Given the description of an element on the screen output the (x, y) to click on. 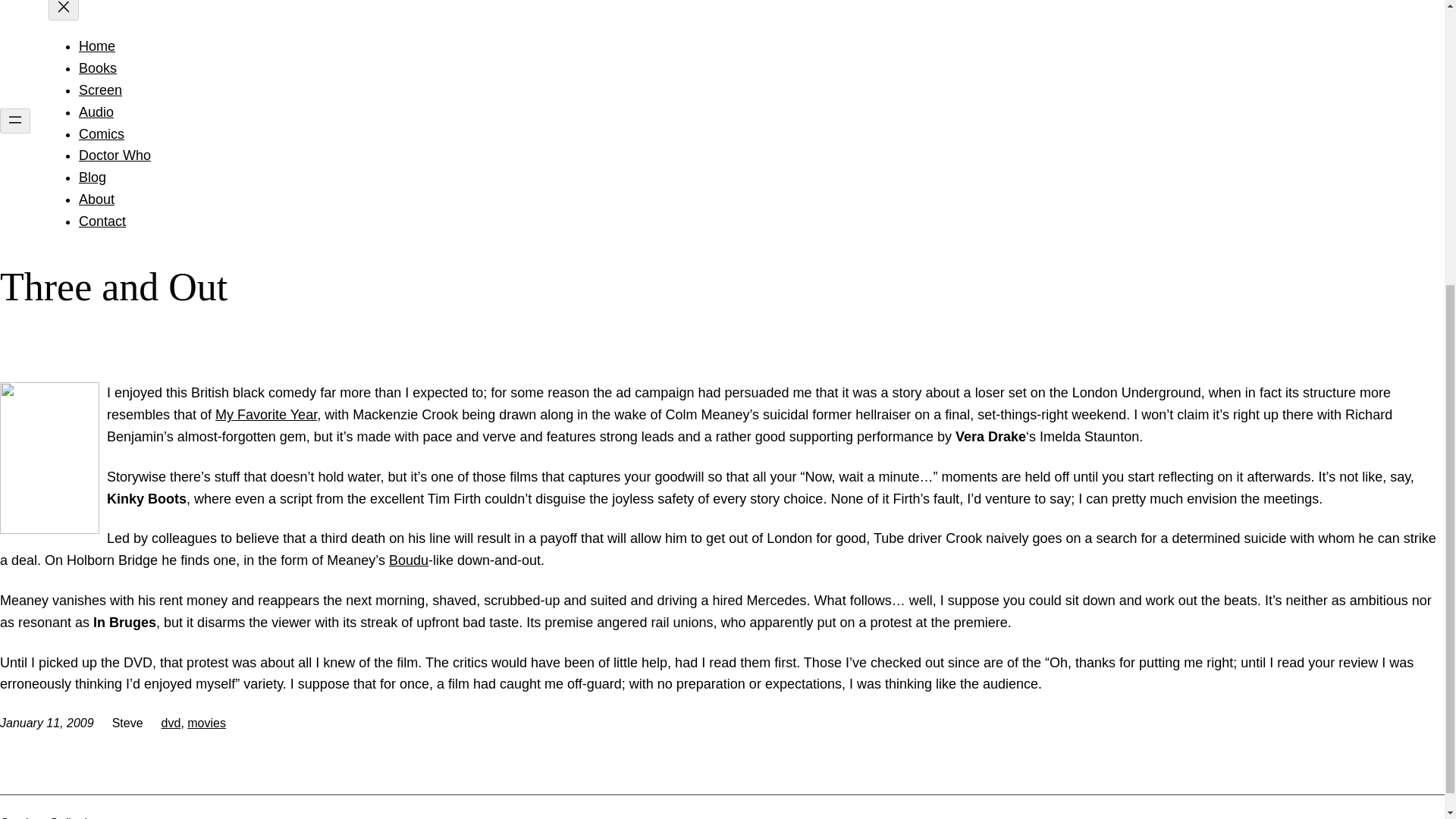
Doctor Who (114, 155)
movies (206, 722)
Contact (101, 221)
dvd (170, 722)
Comics (100, 133)
Screen (100, 89)
Books (97, 68)
Blog (92, 177)
Boudu (408, 560)
Home (96, 46)
